Given the description of an element on the screen output the (x, y) to click on. 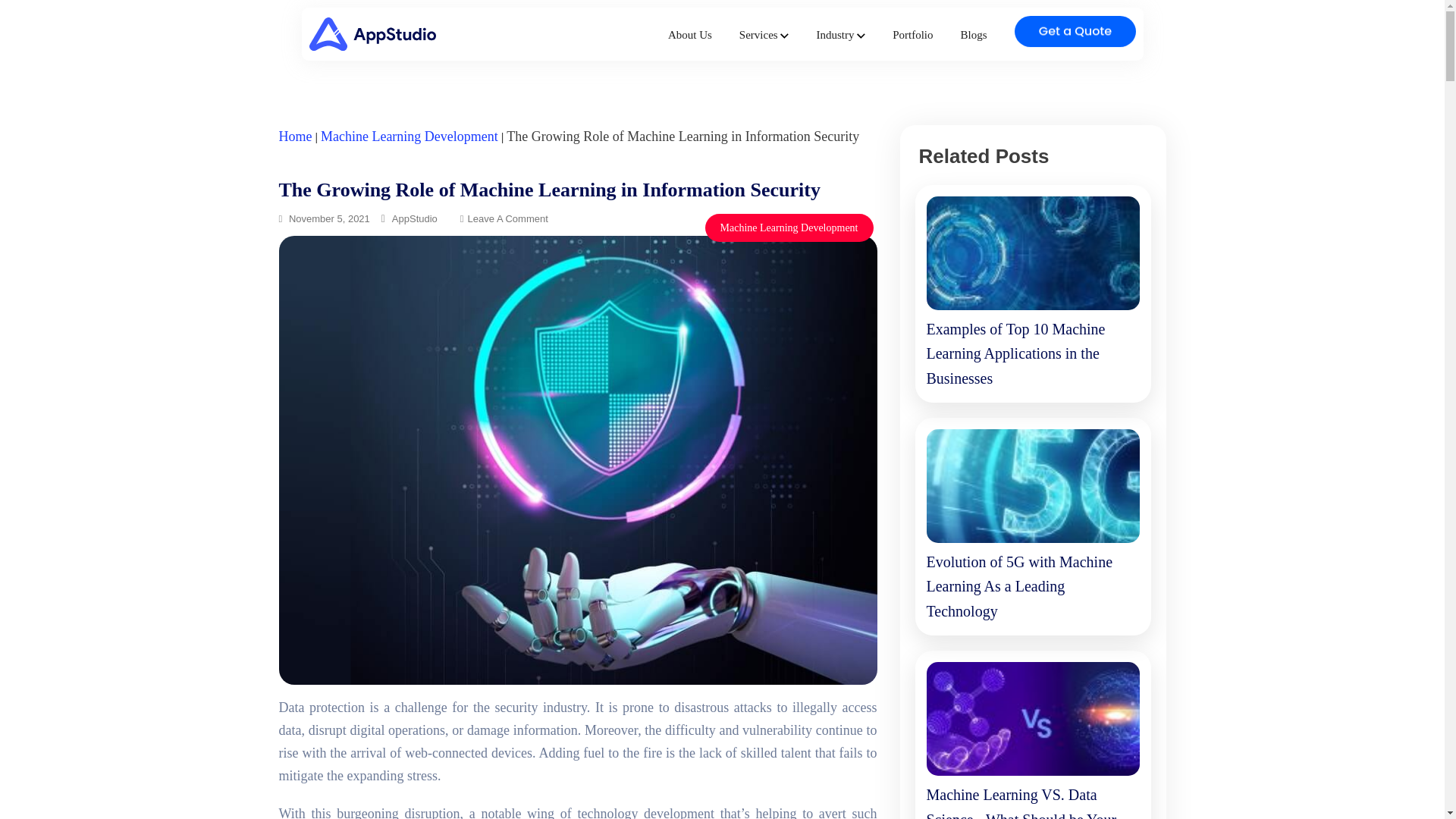
About Us (689, 34)
Blogs (973, 34)
Services (764, 34)
Portfolio (912, 34)
Industry (839, 34)
